Given the description of an element on the screen output the (x, y) to click on. 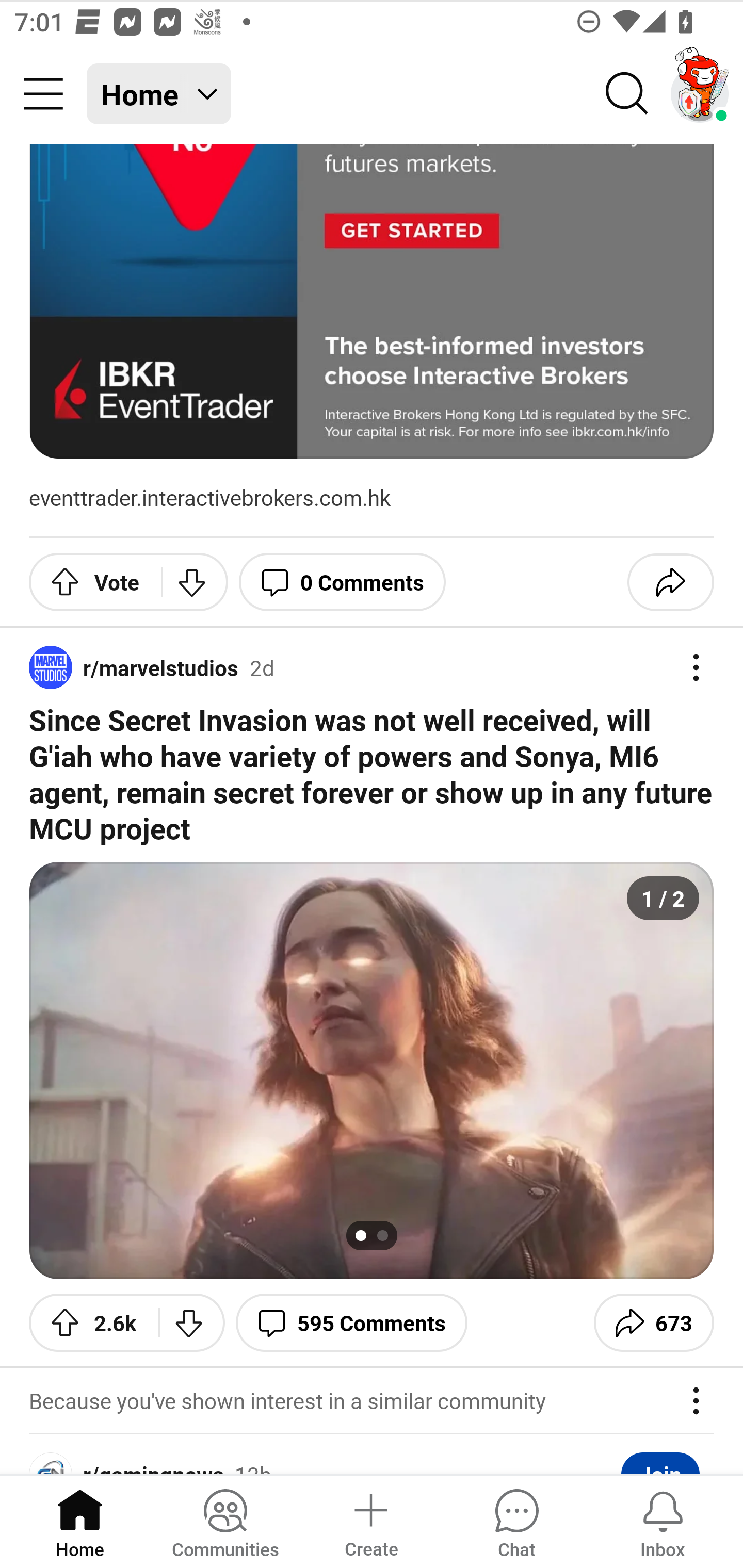
Community menu (43, 93)
Home Home feed (158, 93)
Search (626, 93)
TestAppium002 account (699, 93)
1 of 2, Image, In Image gallery 1 / 2 (371, 1070)
Home (80, 1520)
Communities (225, 1520)
Create a post Create (370, 1520)
Chat (516, 1520)
Inbox (662, 1520)
